Given the description of an element on the screen output the (x, y) to click on. 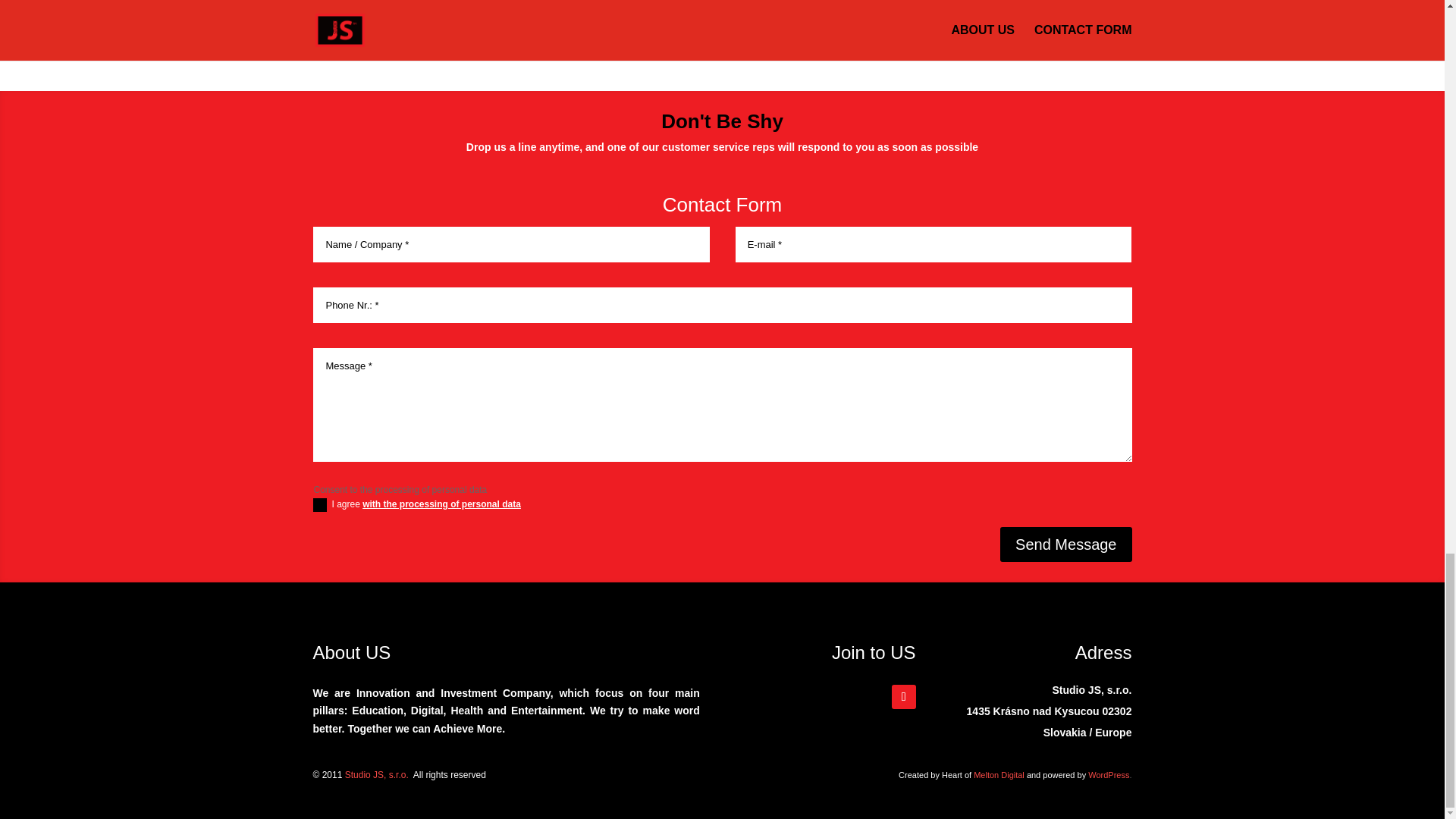
Studio JS, s.r.o. (377, 774)
Sledujte Facebook (903, 696)
Send Message (1065, 544)
with the processing of personal data (441, 503)
Melton Digital (999, 774)
Studio JS, s.r.o. (377, 774)
WordPress (1108, 774)
